Given the description of an element on the screen output the (x, y) to click on. 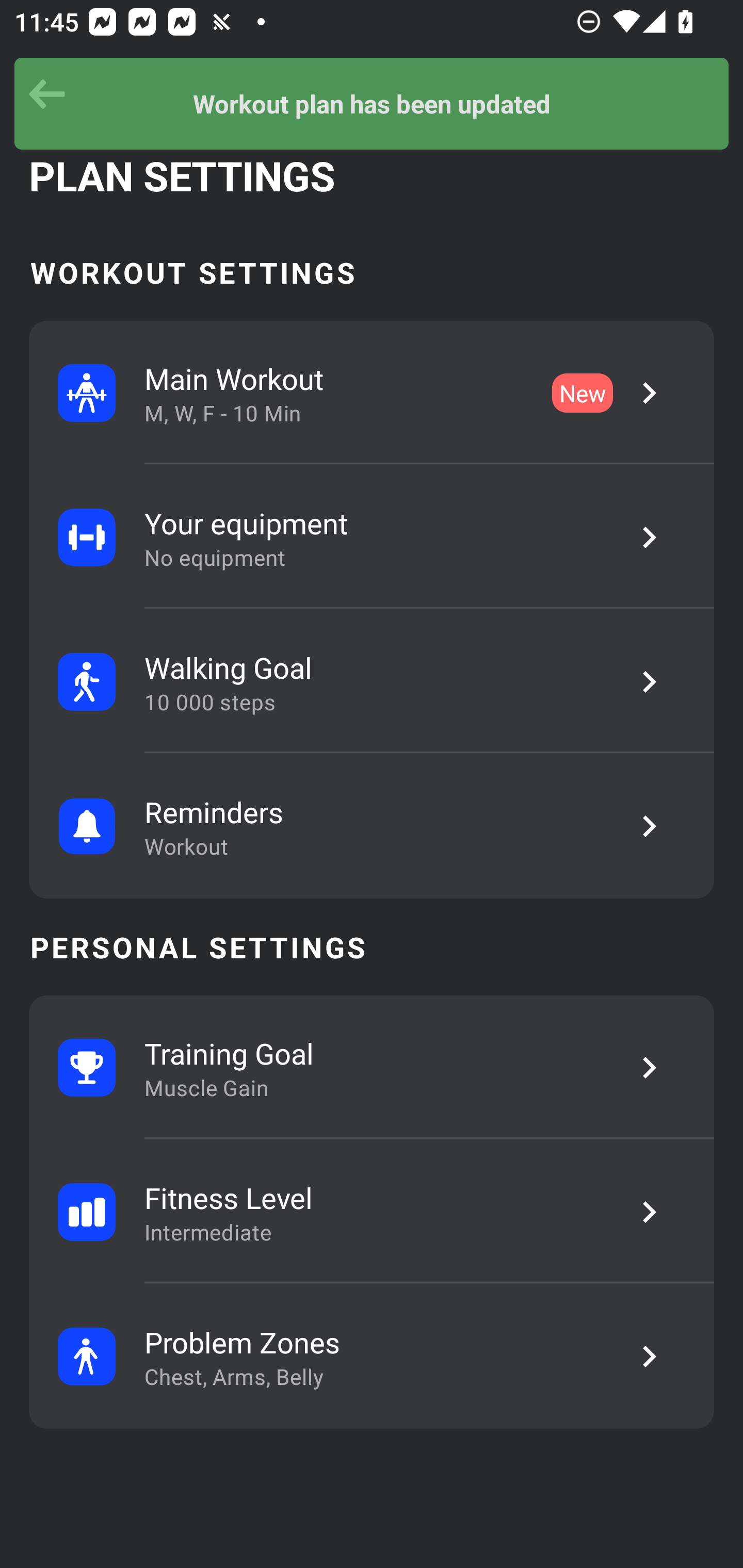
Navigation icon (46, 94)
EQUIPMENT Your equipment No equipment EQUIPMENT (371, 537)
REMINDERS Reminders Workout REMINDERS (371, 826)
